Given the description of an element on the screen output the (x, y) to click on. 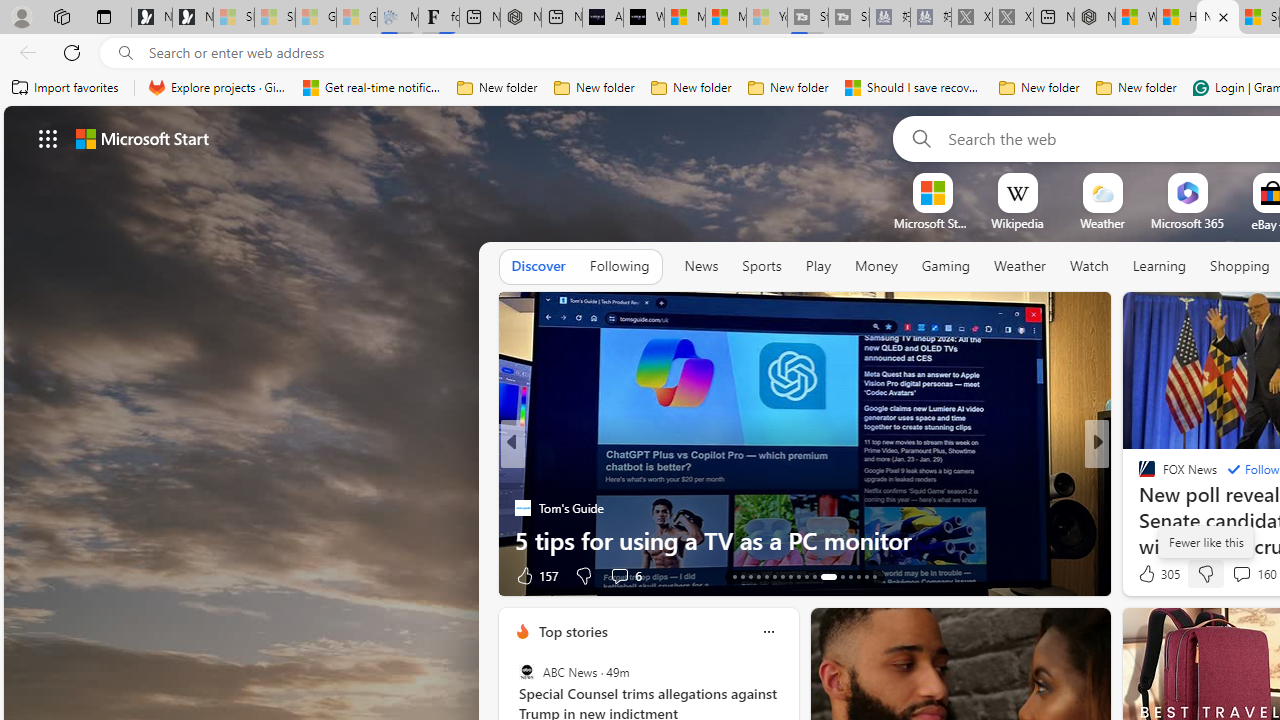
Wikipedia (1017, 223)
Class: control (47, 138)
News (701, 265)
AutomationID: tab-15 (750, 576)
386 Like (1151, 574)
View comments 107 Comment (1247, 574)
Should I save recovered Word documents? - Microsoft Support (913, 88)
Following (619, 267)
3k Like (1148, 574)
Huge shark washes ashore at New York City beach | Watch (1176, 17)
View comments 6 Comment (619, 575)
AutomationID: tab-17 (765, 576)
AutomationID: tab-20 (789, 576)
